Given the description of an element on the screen output the (x, y) to click on. 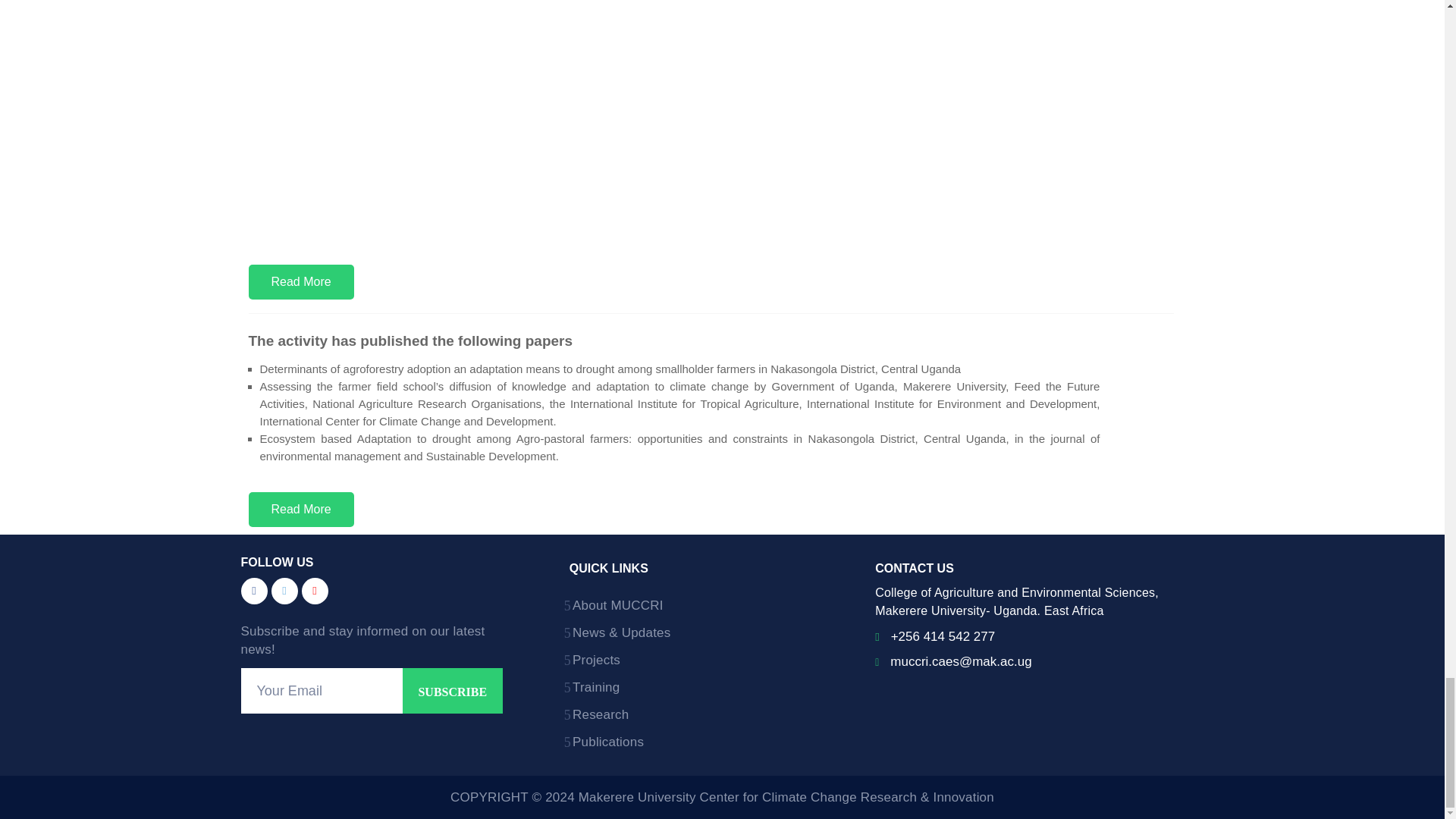
Subscribe (452, 690)
